Given the description of an element on the screen output the (x, y) to click on. 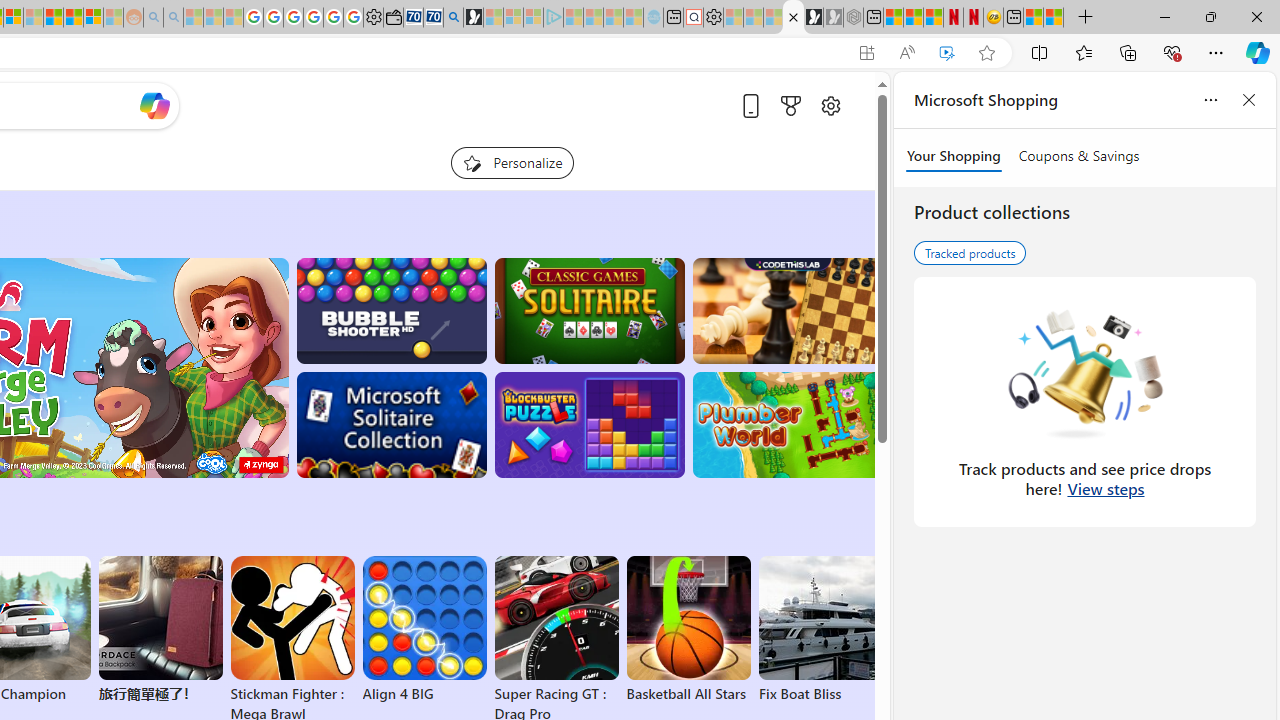
Wildlife - MSN (1033, 17)
Align 4 BIG (424, 629)
